Given the description of an element on the screen output the (x, y) to click on. 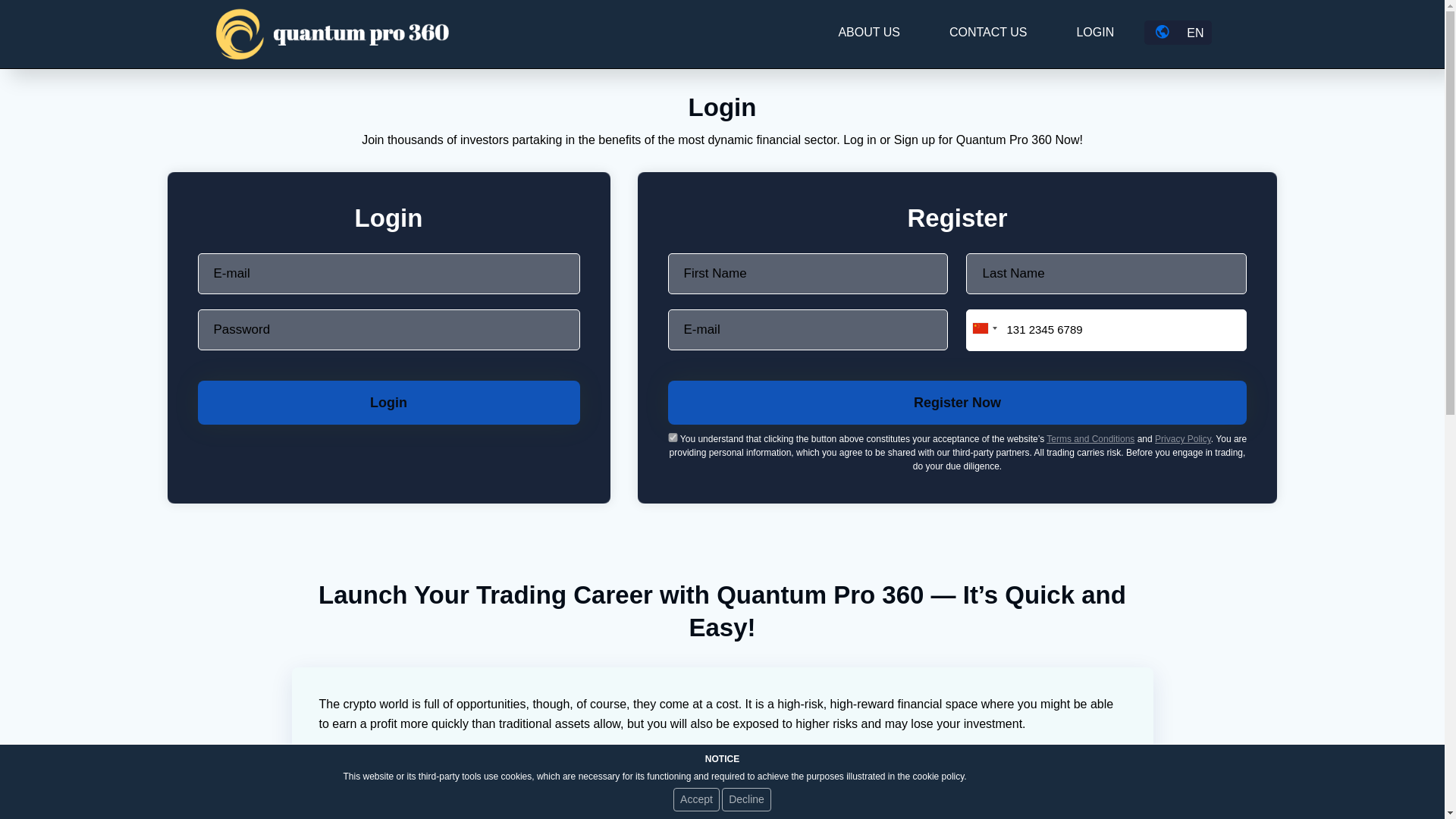
Accept (695, 799)
ABOUT US (868, 31)
Login (387, 402)
on (673, 437)
Privacy Policy (1182, 439)
CONTACT US (988, 31)
LOGIN (1094, 31)
Register Now (956, 402)
Terms and Conditions (1090, 439)
Decline (746, 799)
